Given the description of an element on the screen output the (x, y) to click on. 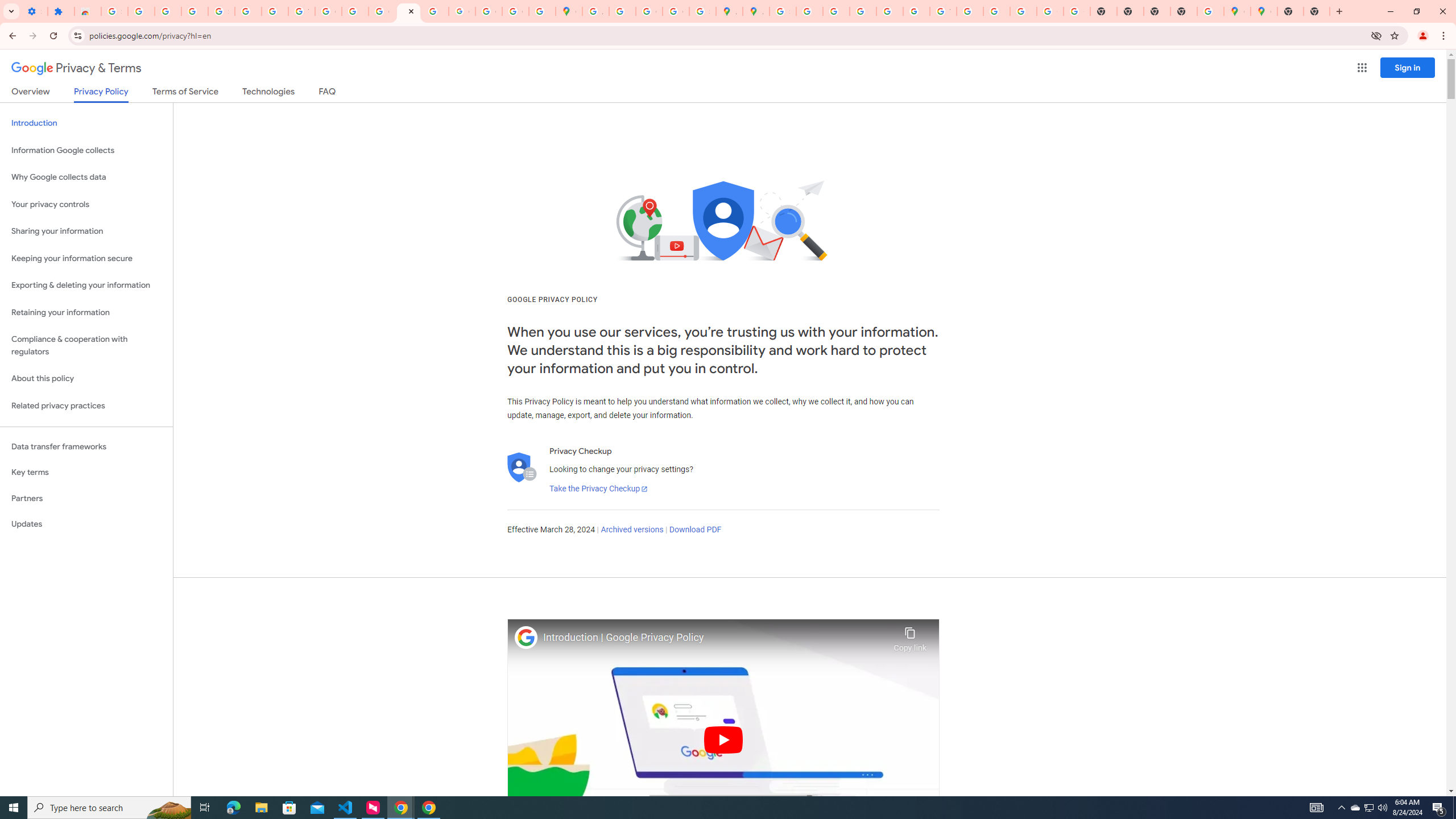
Create your Google Account (649, 11)
Use Google Maps in Space - Google Maps Help (1210, 11)
New Tab (1338, 11)
Sign in - Google Accounts (114, 11)
Introduction | Google Privacy Policy (715, 637)
Google Maps (569, 11)
Compliance & cooperation with regulators (86, 345)
Minimize (1390, 11)
Sign in (1407, 67)
View site information (77, 35)
Google Maps (1263, 11)
You (1422, 35)
YouTube (301, 11)
